Given the description of an element on the screen output the (x, y) to click on. 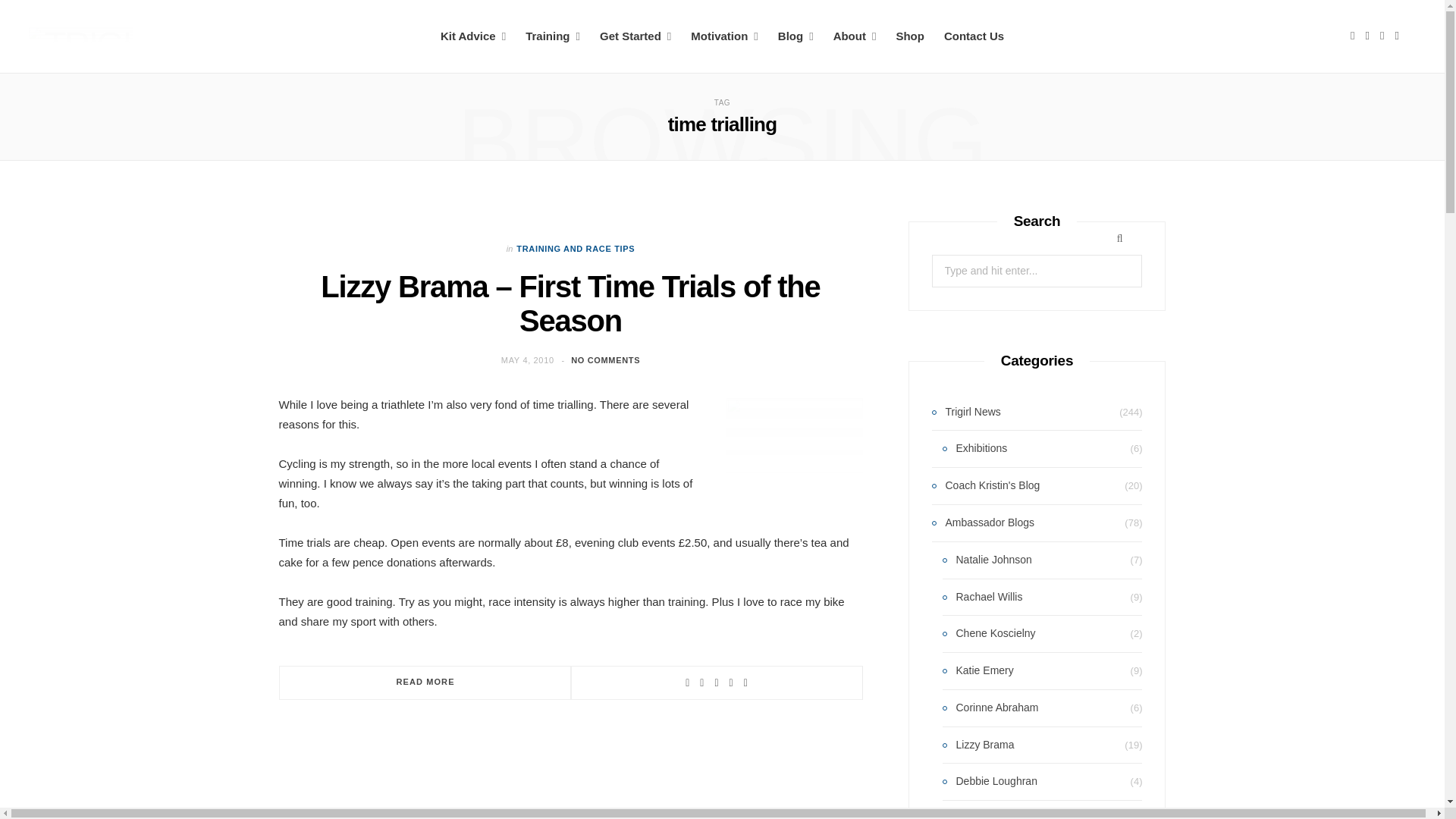
Triathlon Motivation (724, 36)
Triathlon Tips for Beginners (635, 36)
Training (552, 36)
Get Started (635, 36)
Kit Advice (472, 36)
Triathlon Training (552, 36)
Triathlon Kit Advice (472, 36)
